Given the description of an element on the screen output the (x, y) to click on. 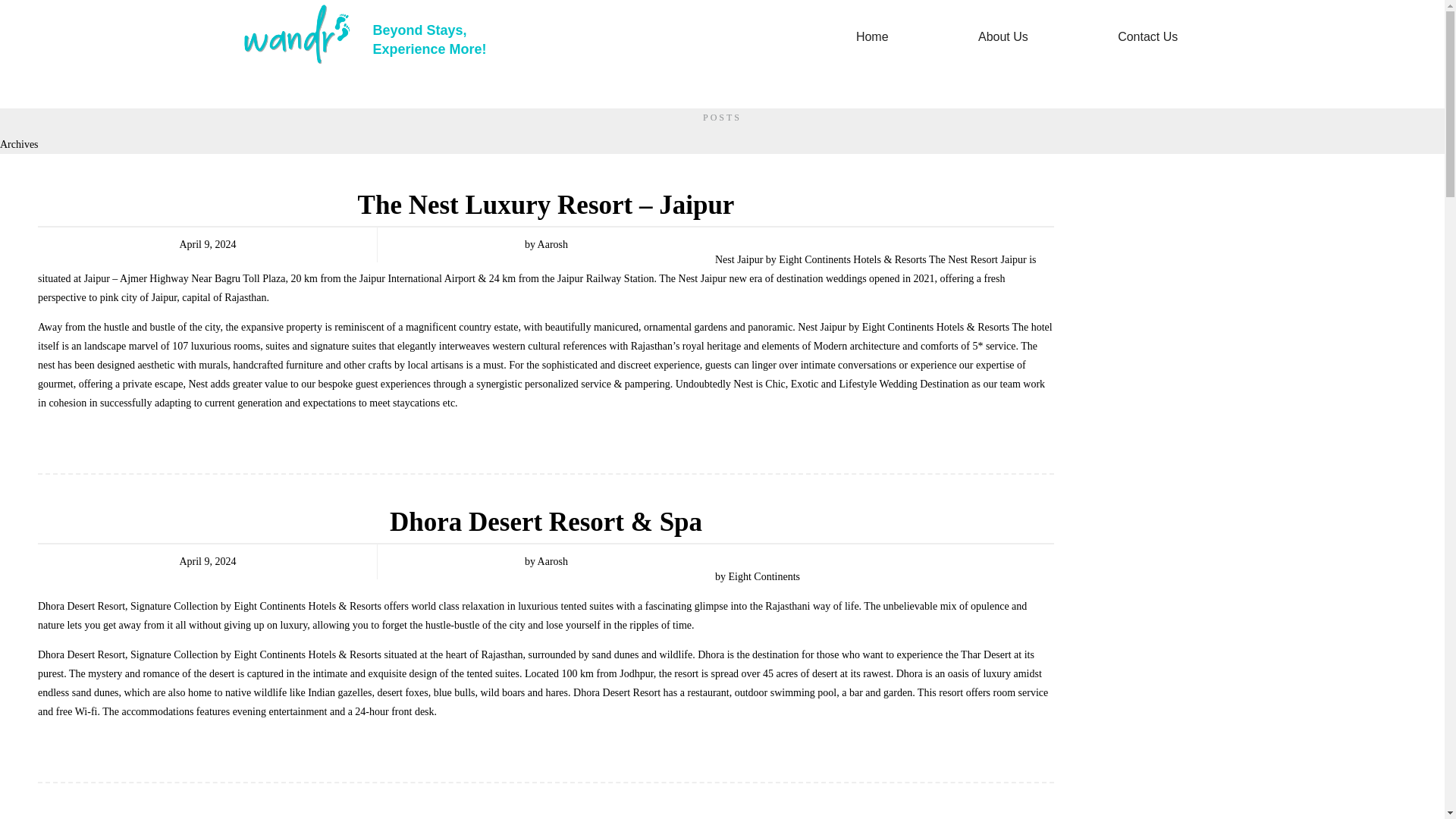
Home (429, 39)
Astropod Sariska Treetop (871, 36)
Contact Us (545, 817)
About Us (1148, 36)
